Given the description of an element on the screen output the (x, y) to click on. 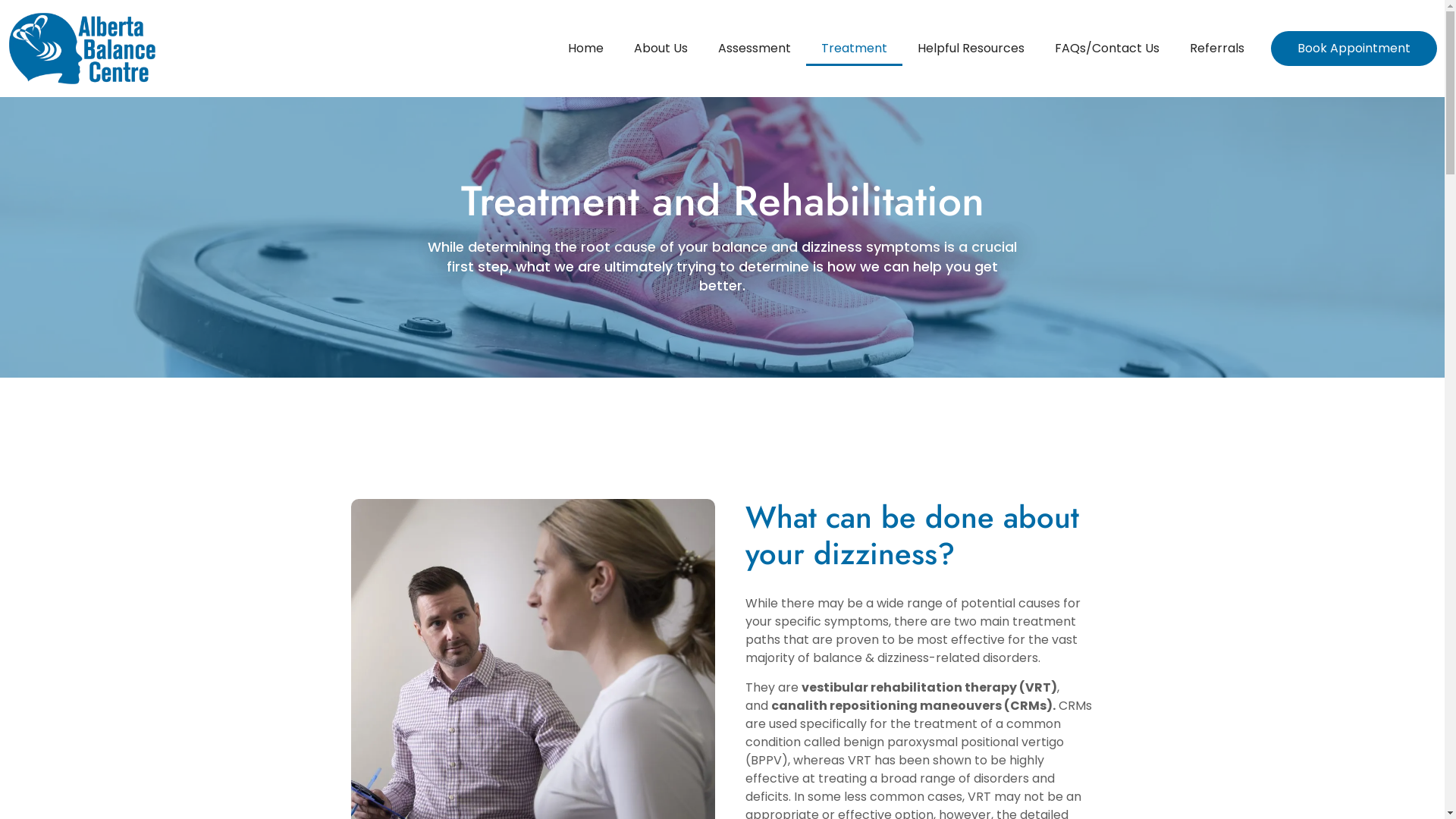
Home Element type: text (585, 48)
Helpful Resources Element type: text (970, 48)
Book Appointment Element type: text (1353, 48)
Treatment Element type: text (854, 48)
FAQs/Contact Us Element type: text (1106, 48)
Assessment Element type: text (754, 48)
Referrals Element type: text (1216, 48)
About Us Element type: text (660, 48)
